Given the description of an element on the screen output the (x, y) to click on. 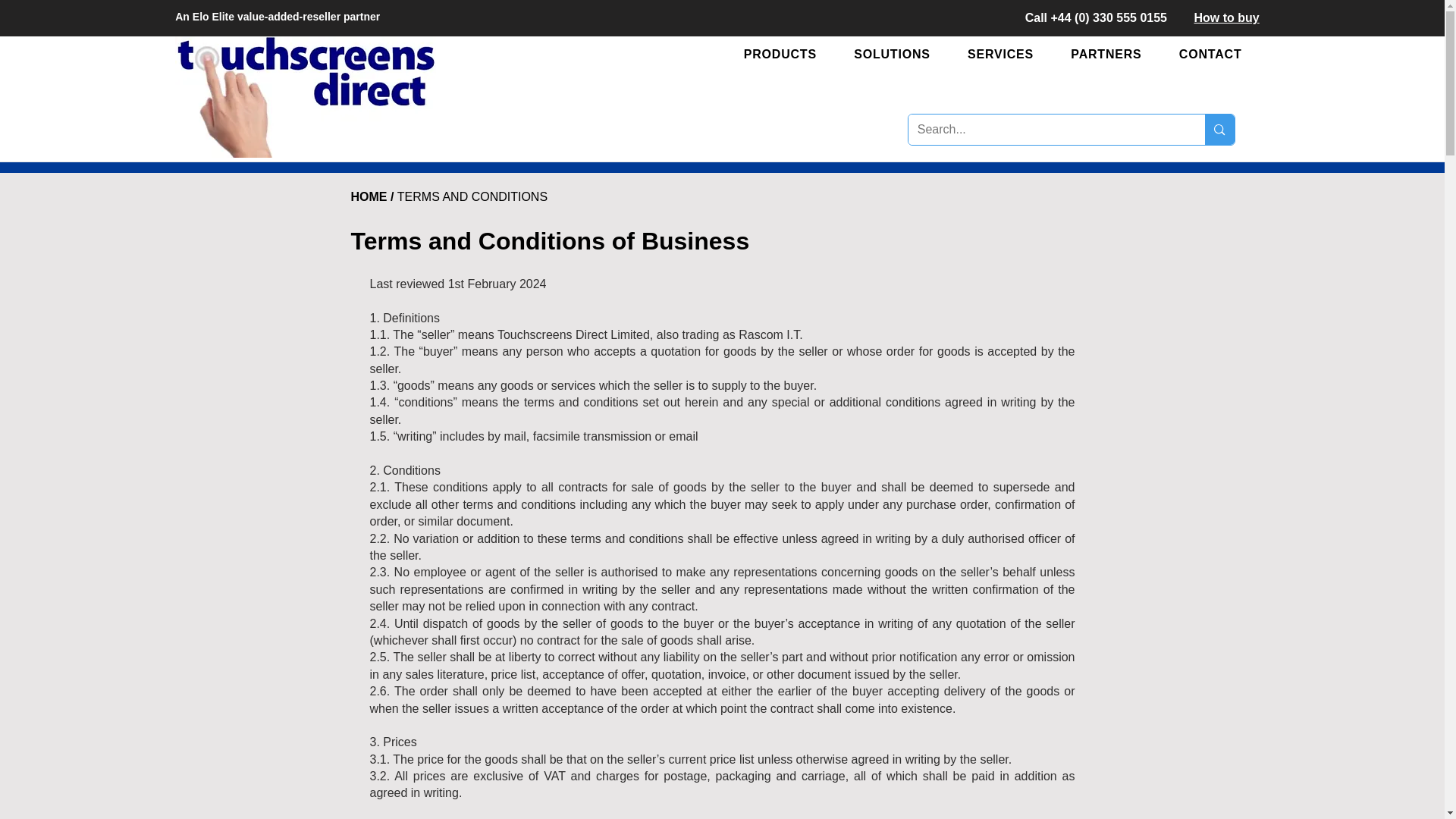
How to buy (1226, 17)
PARTNERS (1114, 54)
SERVICES (1008, 54)
An Elo Elite value-added-reseller partner (277, 16)
CONTACT (1218, 54)
SOLUTIONS (899, 54)
HOME (368, 196)
